Given the description of an element on the screen output the (x, y) to click on. 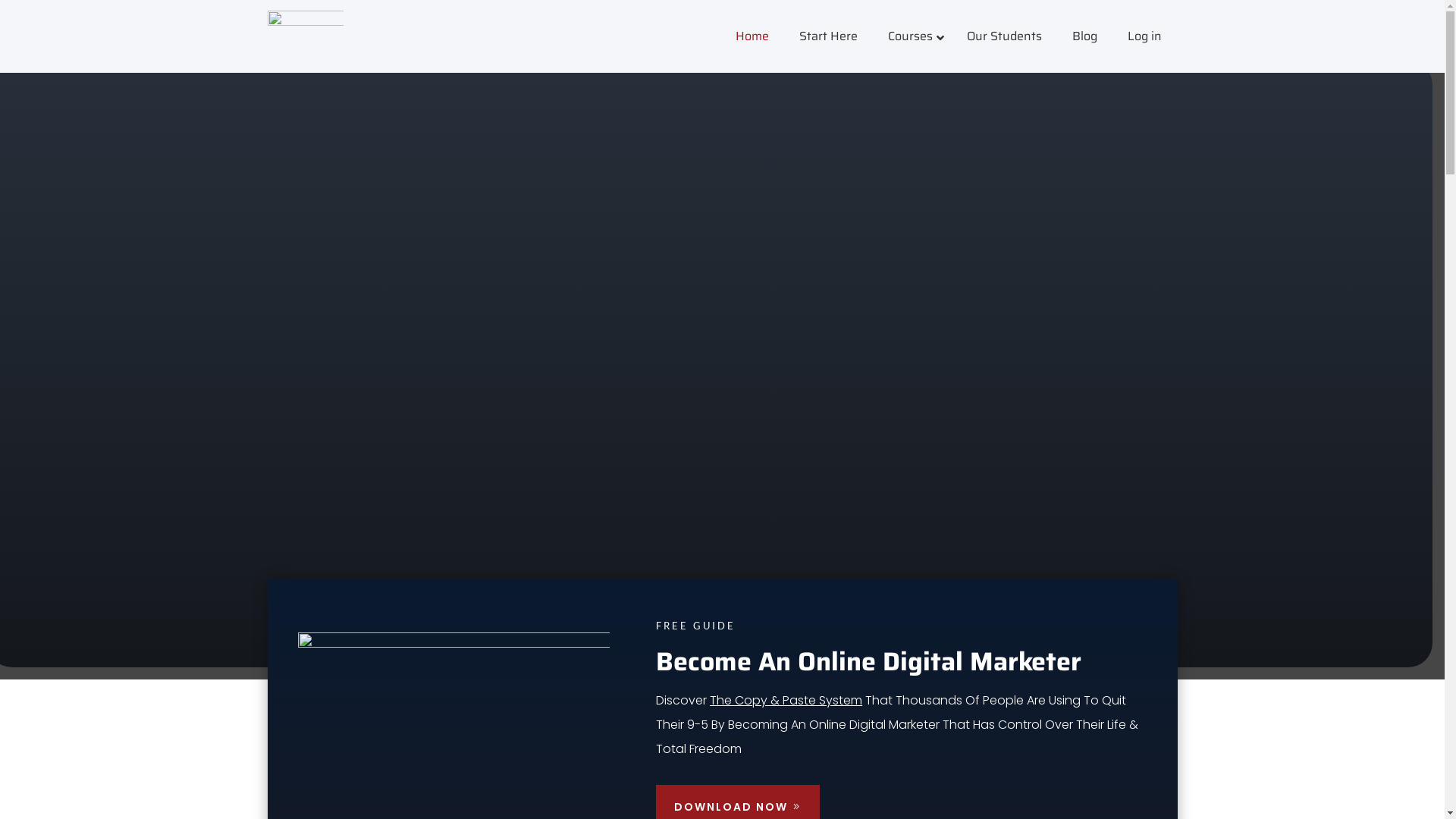
Courses Element type: text (911, 36)
Home Element type: text (752, 36)
Blog Element type: text (1084, 36)
Our Students Element type: text (1004, 36)
Start Here Element type: text (828, 36)
DMS Logo Element type: hover (304, 39)
Log in Element type: text (1144, 36)
